Given the description of an element on the screen output the (x, y) to click on. 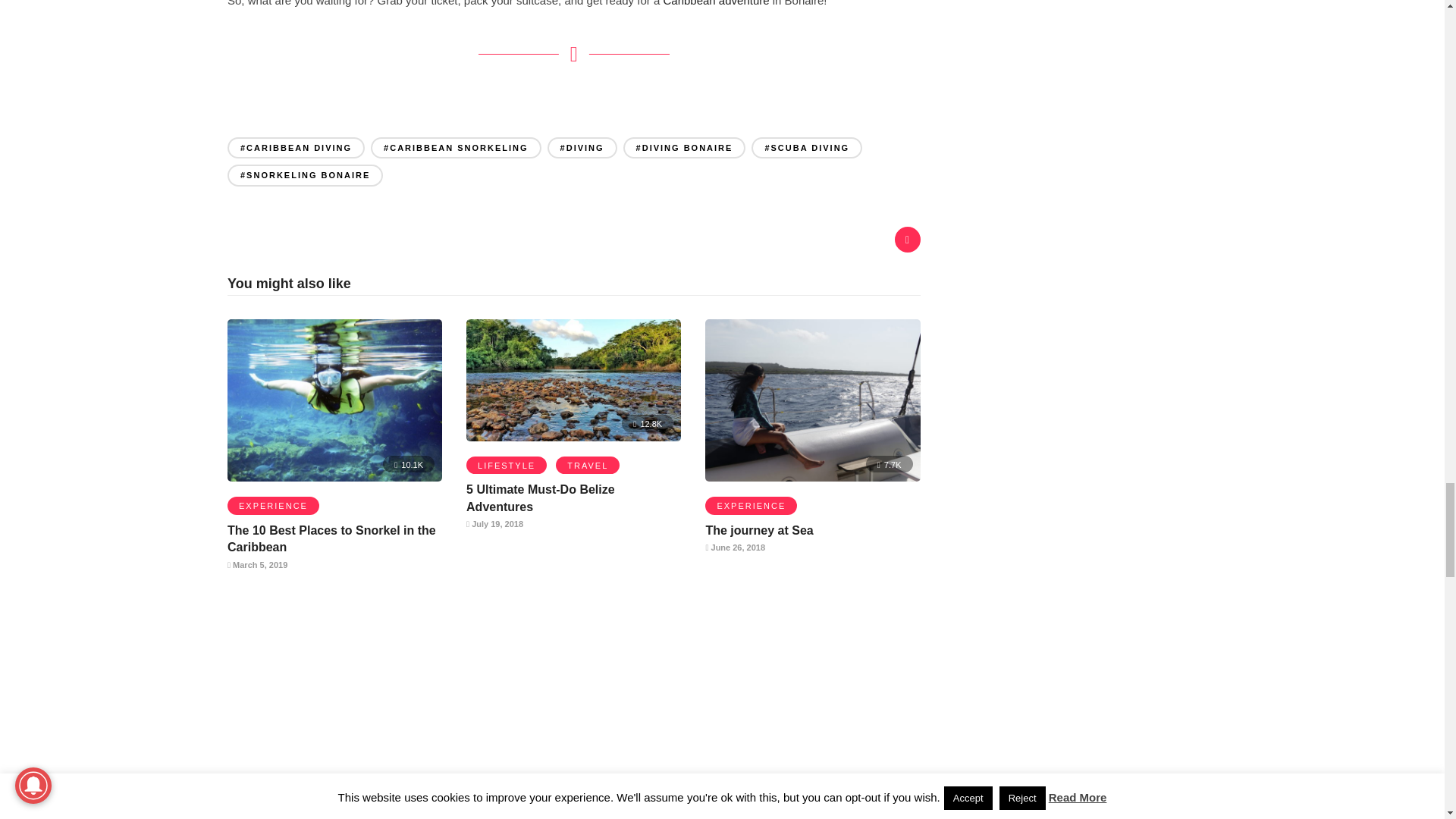
The 10 Best Places to Snorkel in the Caribbean (331, 538)
The journey at Sea (758, 530)
5 Ultimate Must-Do Belize Adventures (539, 497)
